Given the description of an element on the screen output the (x, y) to click on. 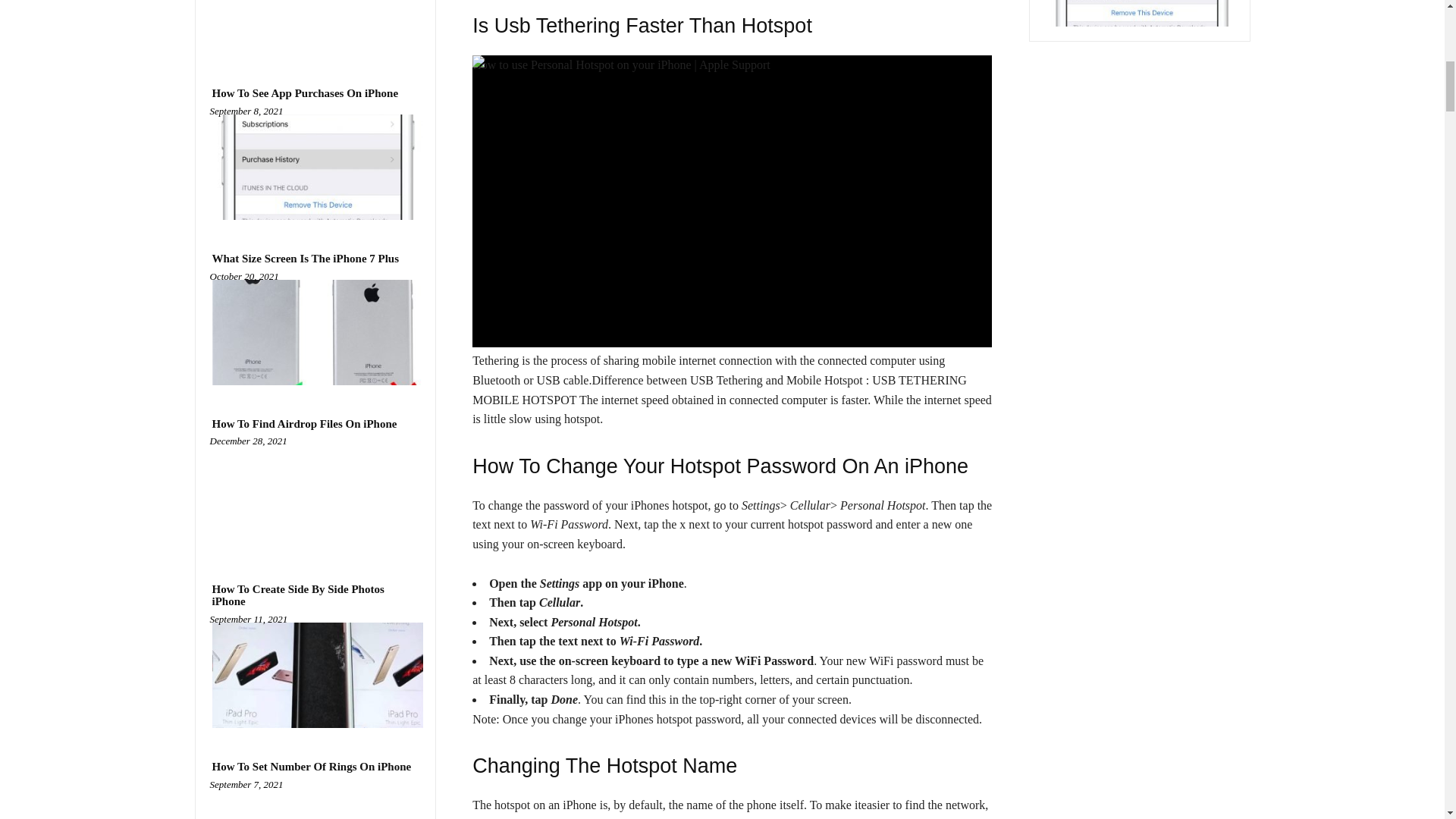
How To See App Purchases On iPhone (304, 92)
How To See App Purchases On iPhone (314, 167)
How To Edit Autofill Credit Card On iPhone (314, 27)
What Size Screen Is The iPhone 7 Plus (314, 332)
